Given the description of an element on the screen output the (x, y) to click on. 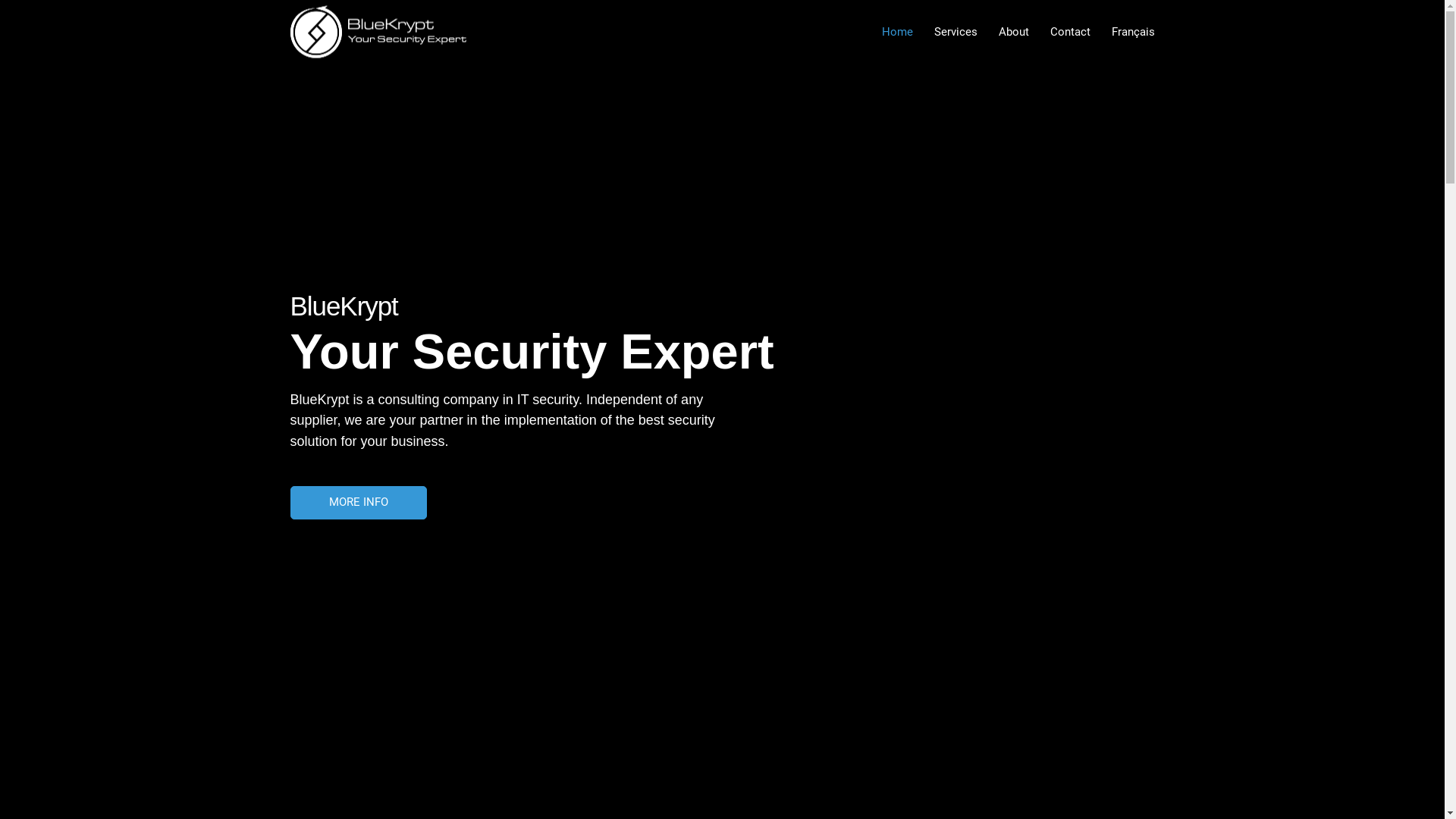
Services Element type: text (955, 32)
Contact Element type: text (1069, 32)
Home Element type: text (896, 32)
MORE INFO Element type: text (357, 502)
About Element type: text (1012, 32)
